Given the description of an element on the screen output the (x, y) to click on. 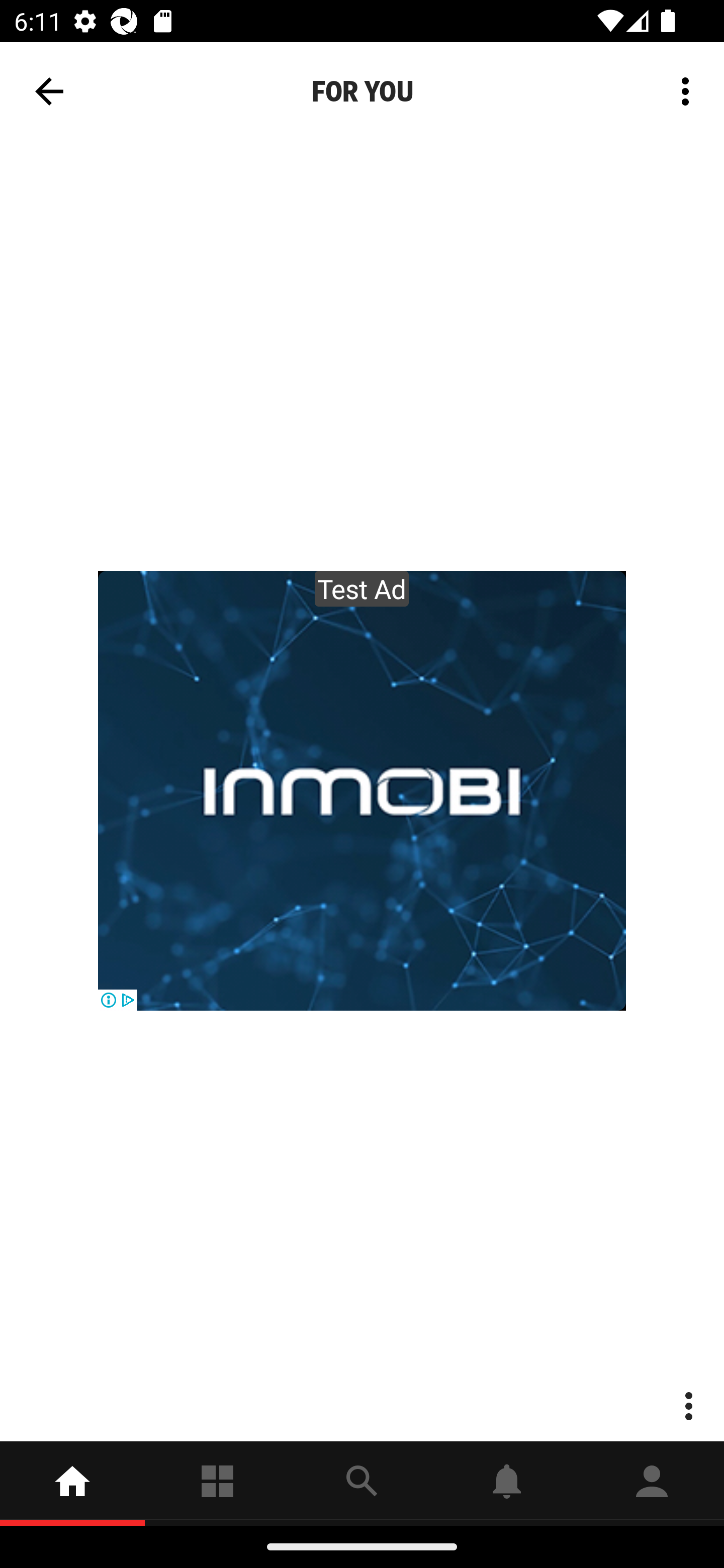
Back (49, 91)
FOR YOU (361, 91)
More options (688, 90)
inmobi-creative (361, 790)
home (72, 1482)
Following (216, 1482)
explore (361, 1482)
Notifications (506, 1482)
Profile (651, 1482)
